Given the description of an element on the screen output the (x, y) to click on. 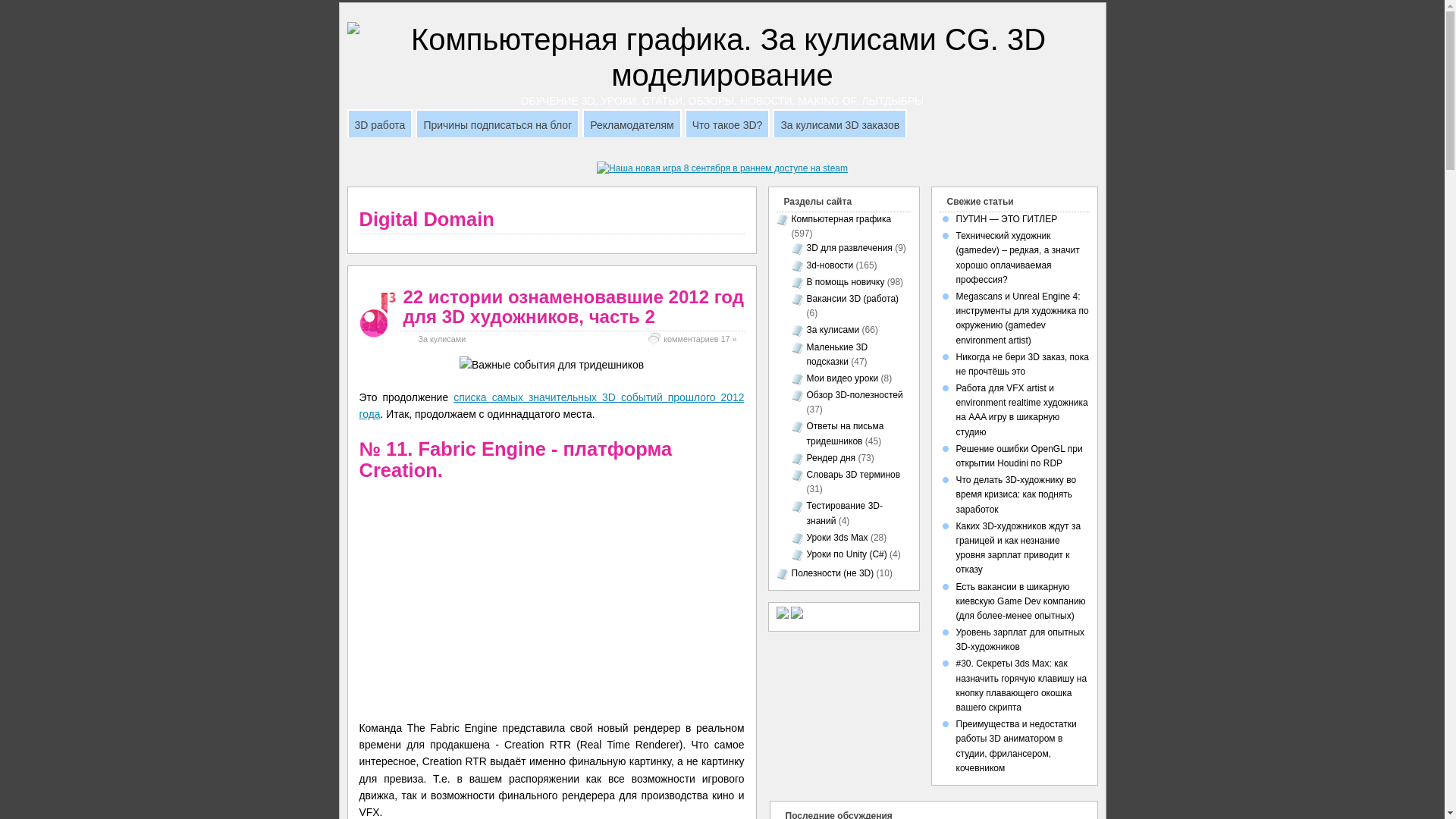
Advertisement Element type: hover (721, 155)
